Given the description of an element on the screen output the (x, y) to click on. 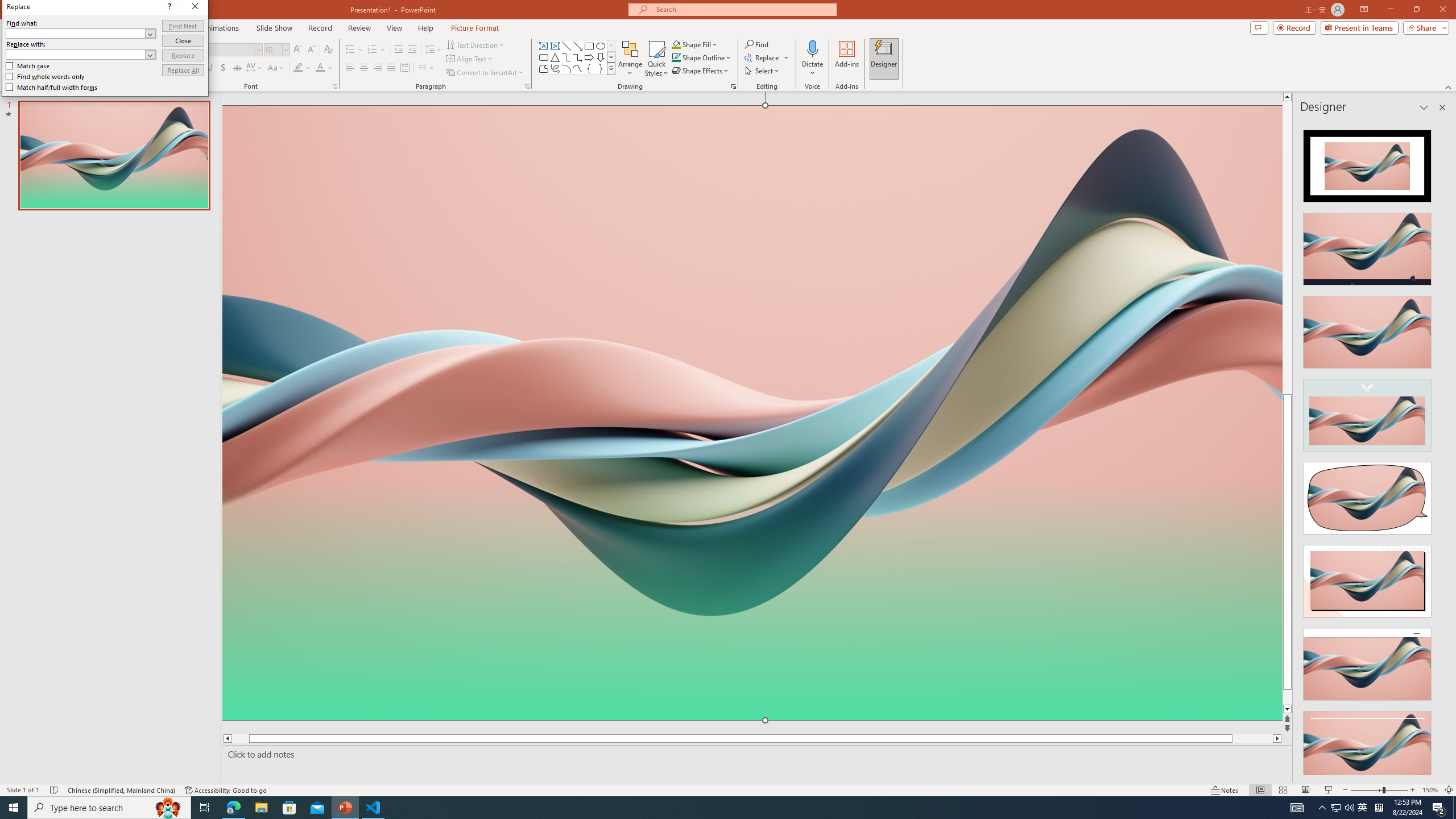
Match case (232, 208)
Zoom 150% (1430, 790)
